Given the description of an element on the screen output the (x, y) to click on. 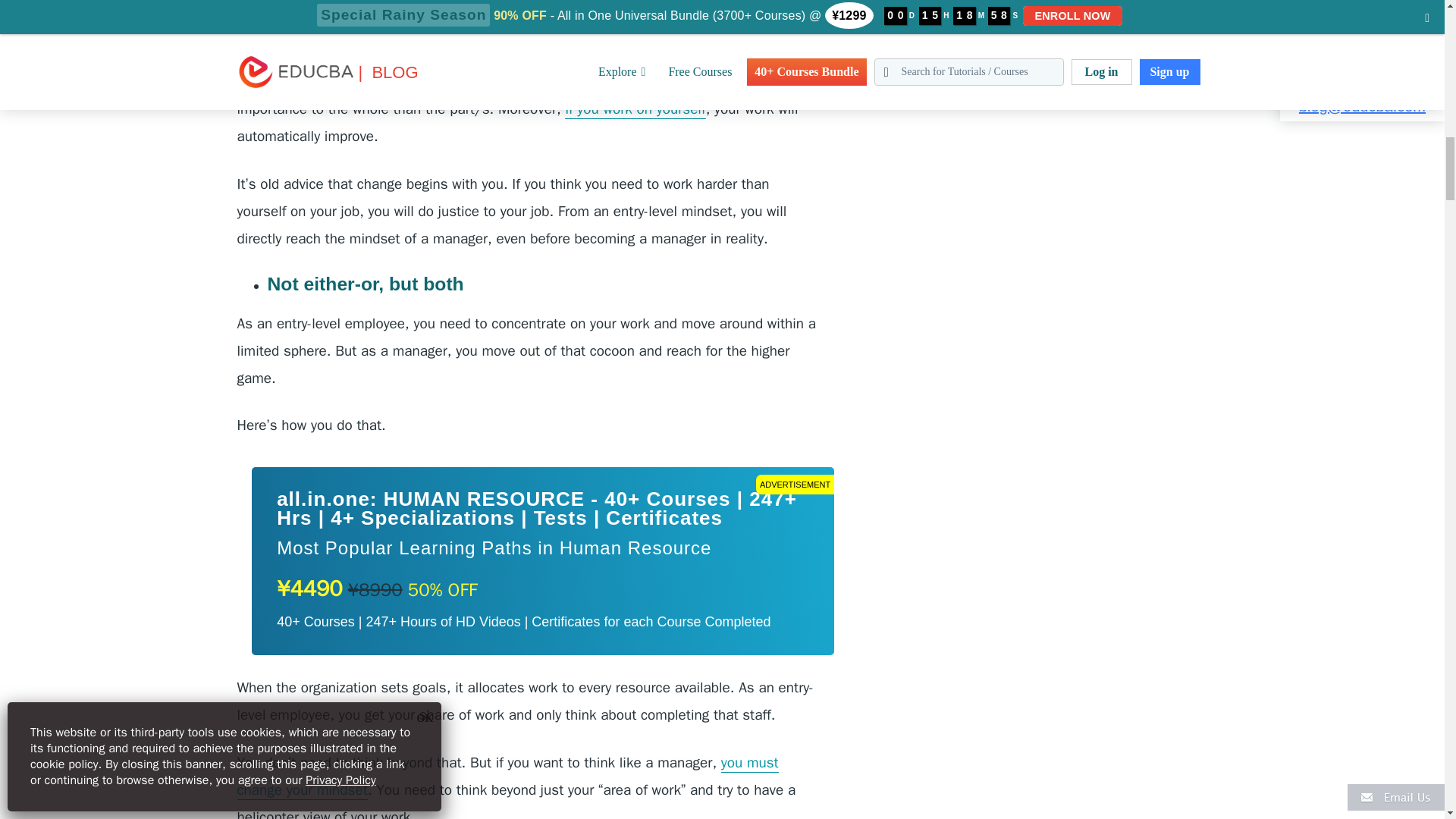
10 Simple Self Improvement Techniques (634, 108)
How to Boost Your Mind Power? (506, 776)
if you work on yourself (634, 108)
